Given the description of an element on the screen output the (x, y) to click on. 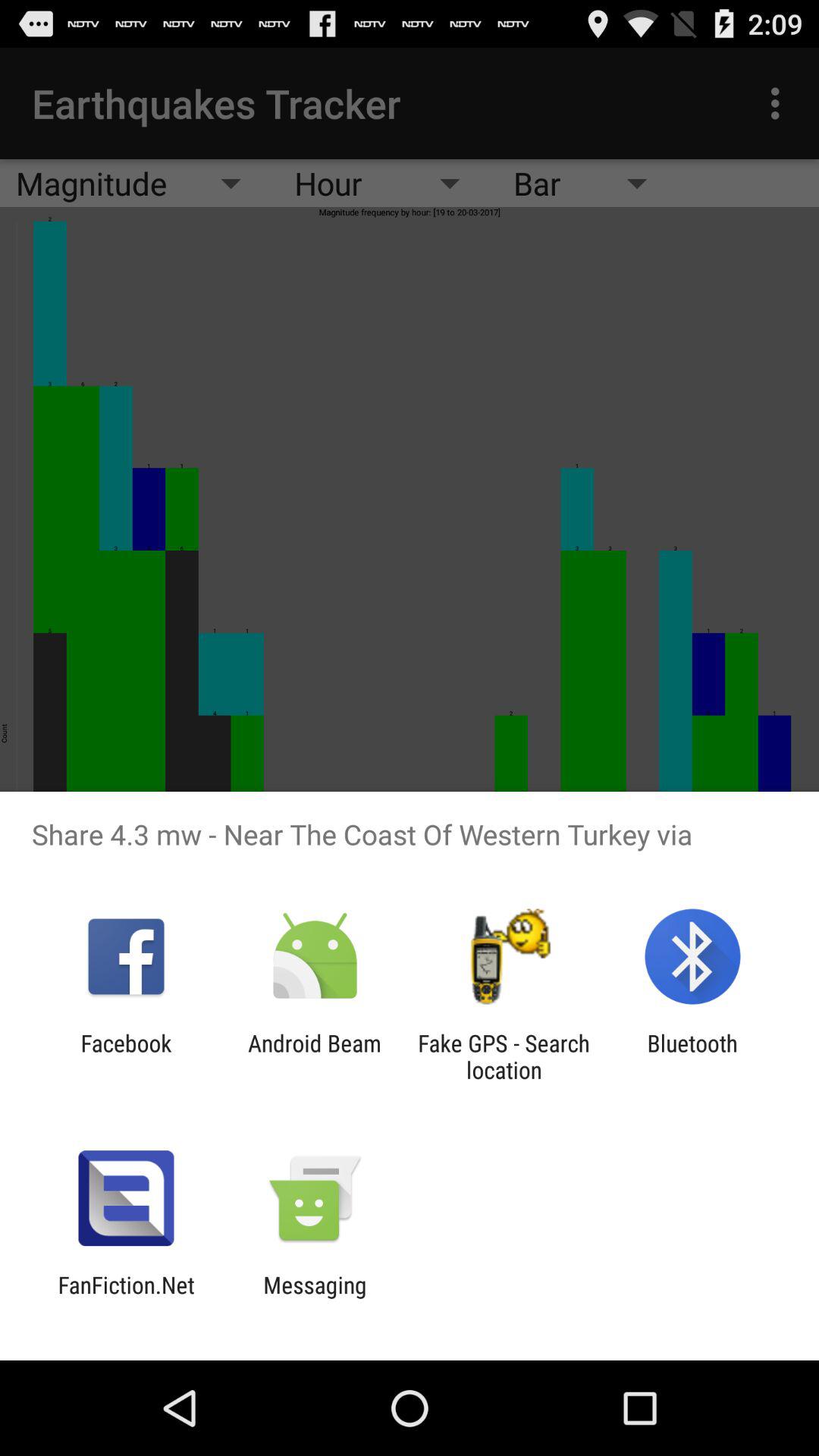
tap the app to the right of the facebook item (314, 1056)
